Given the description of an element on the screen output the (x, y) to click on. 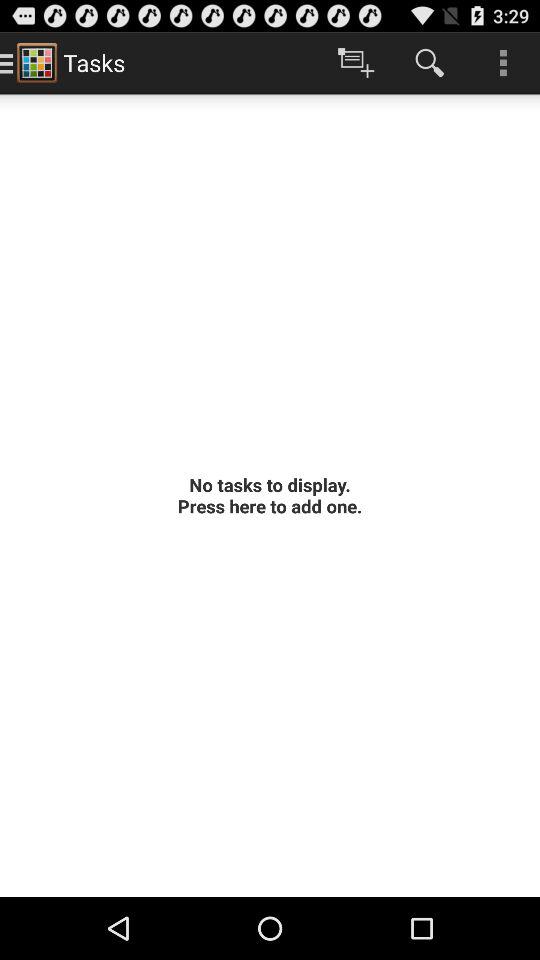
launch the icon above the no tasks to (356, 62)
